Given the description of an element on the screen output the (x, y) to click on. 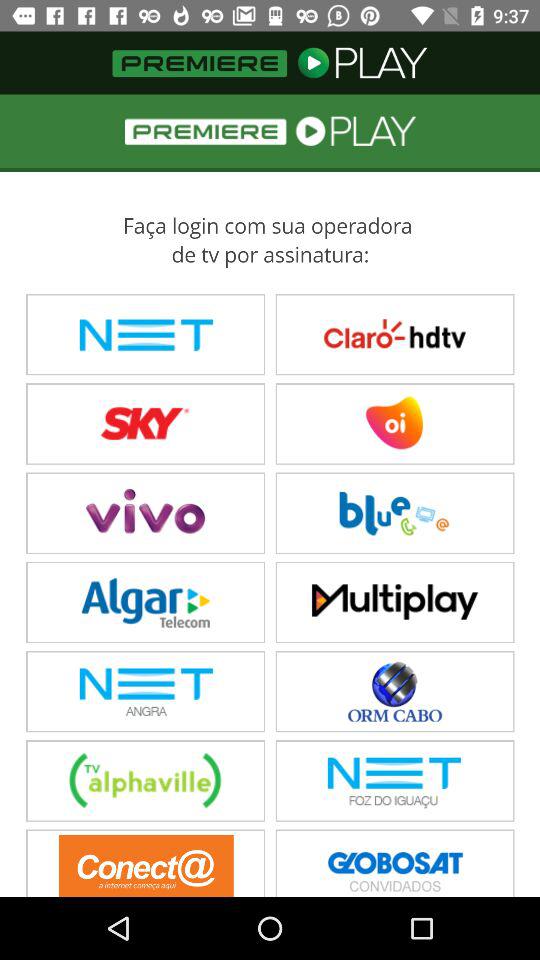
full page (270, 495)
